Given the description of an element on the screen output the (x, y) to click on. 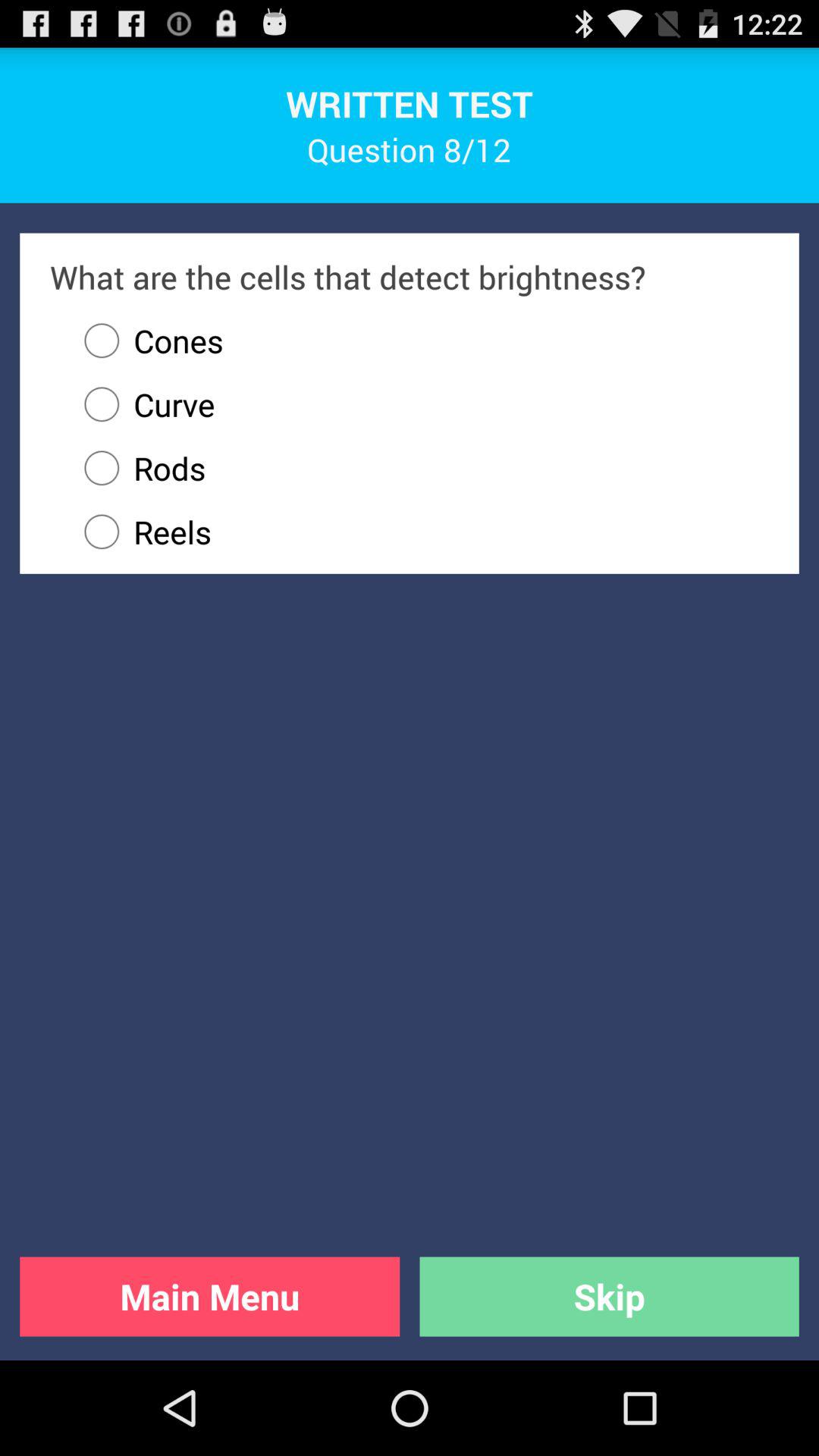
press item above the curve radio button (146, 340)
